Given the description of an element on the screen output the (x, y) to click on. 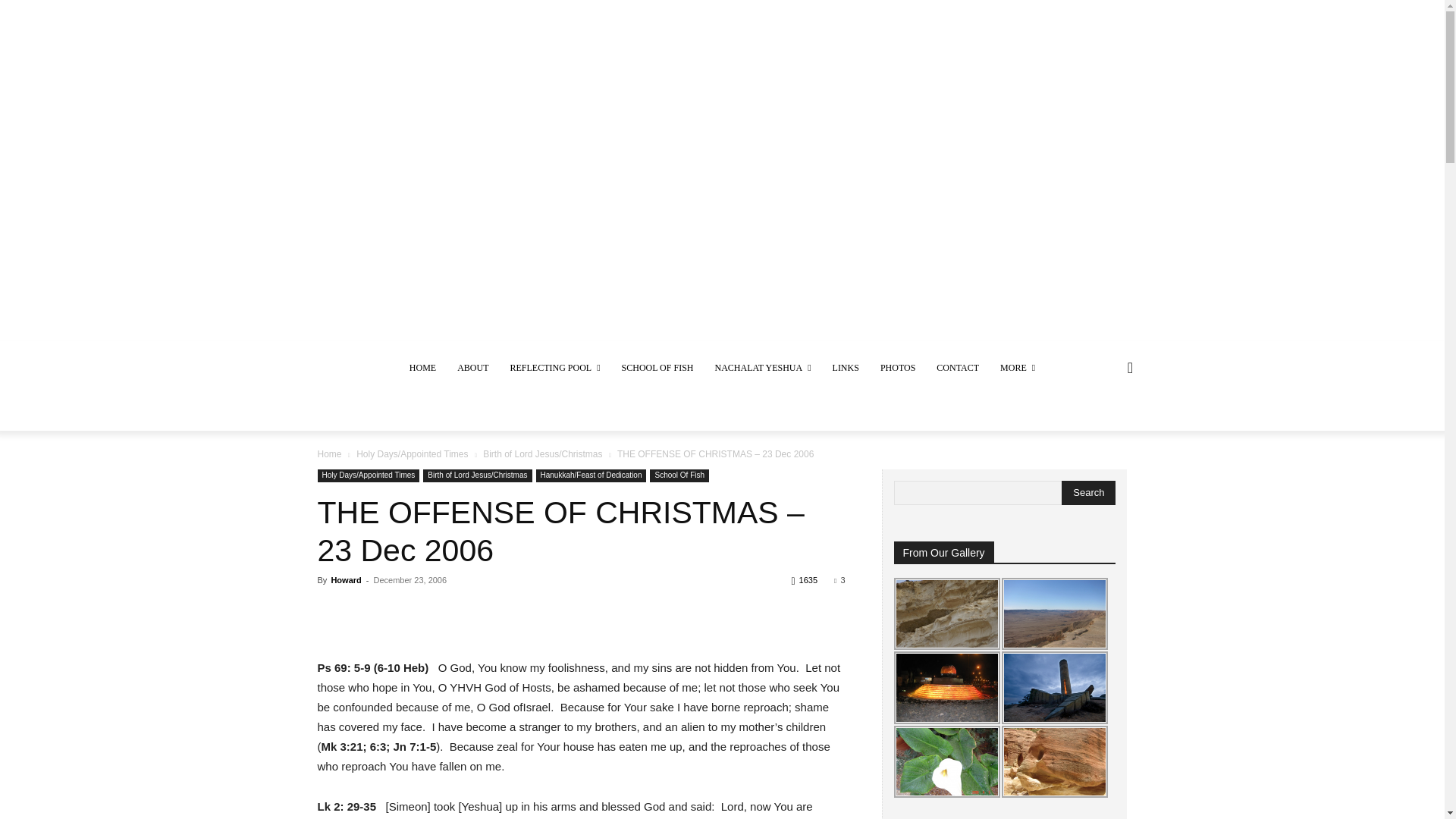
Home (328, 453)
HOME (422, 367)
ABOUT (472, 367)
NACHALAT YESHUA (762, 367)
REFLECTING POOL (554, 367)
SCHOOL OF FISH (657, 367)
CONTACT (958, 367)
Search (1088, 492)
PHOTOS (897, 367)
LINKS (845, 367)
